Given the description of an element on the screen output the (x, y) to click on. 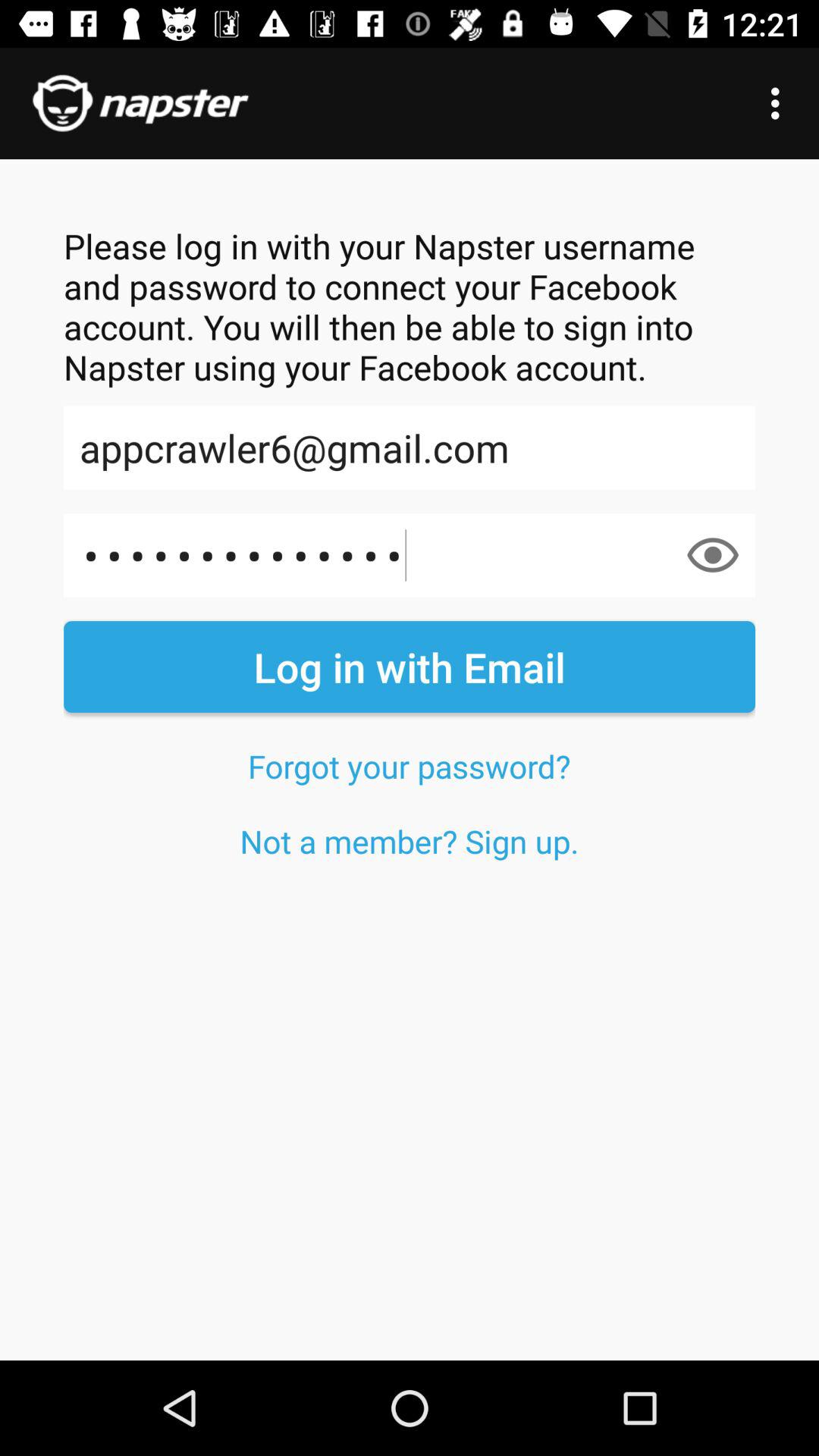
select the item below forgot your password? (409, 840)
